Given the description of an element on the screen output the (x, y) to click on. 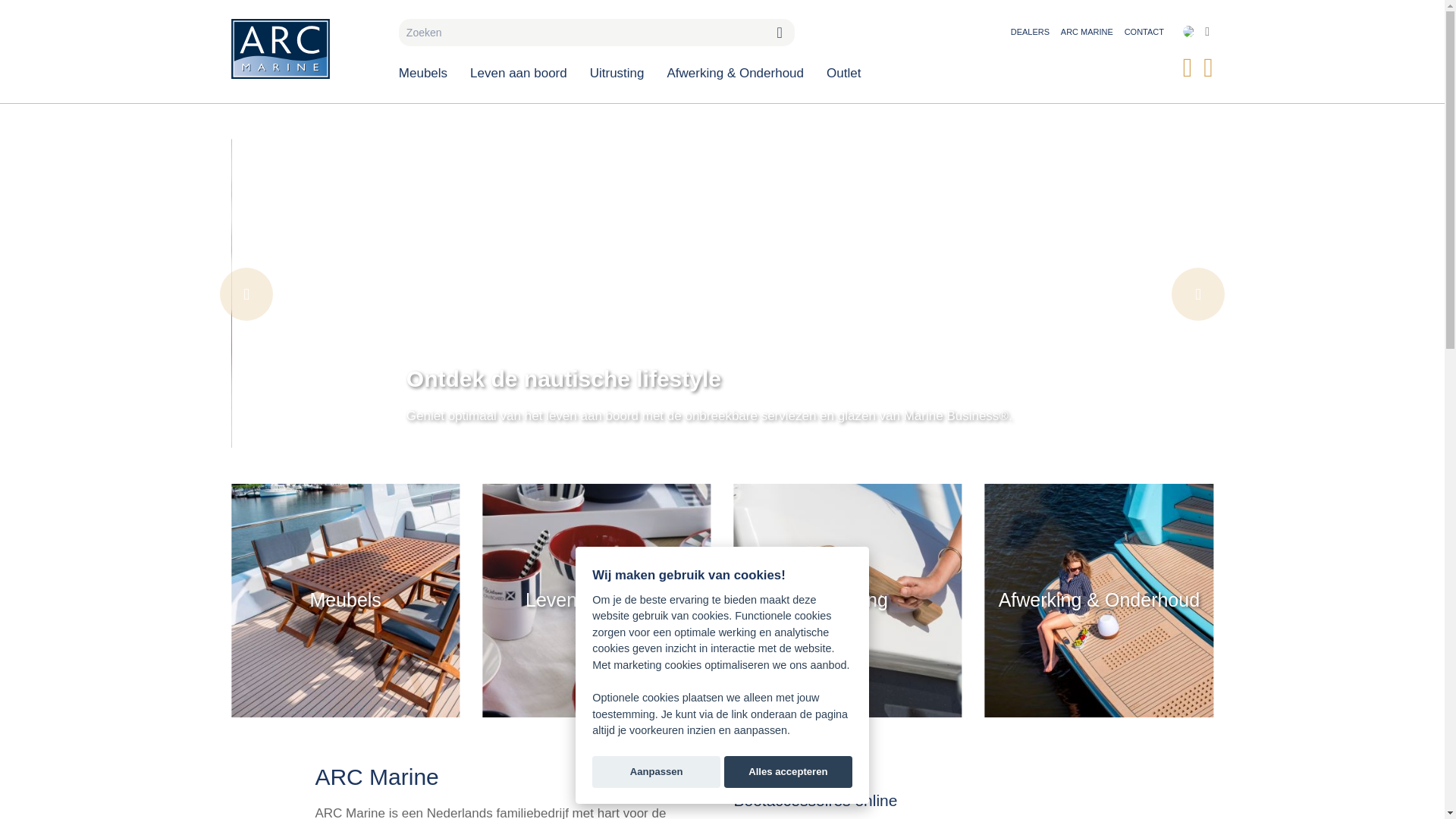
Leven aan boord (518, 70)
Zoeken (779, 31)
Home (303, 48)
Meubels (428, 70)
